Given the description of an element on the screen output the (x, y) to click on. 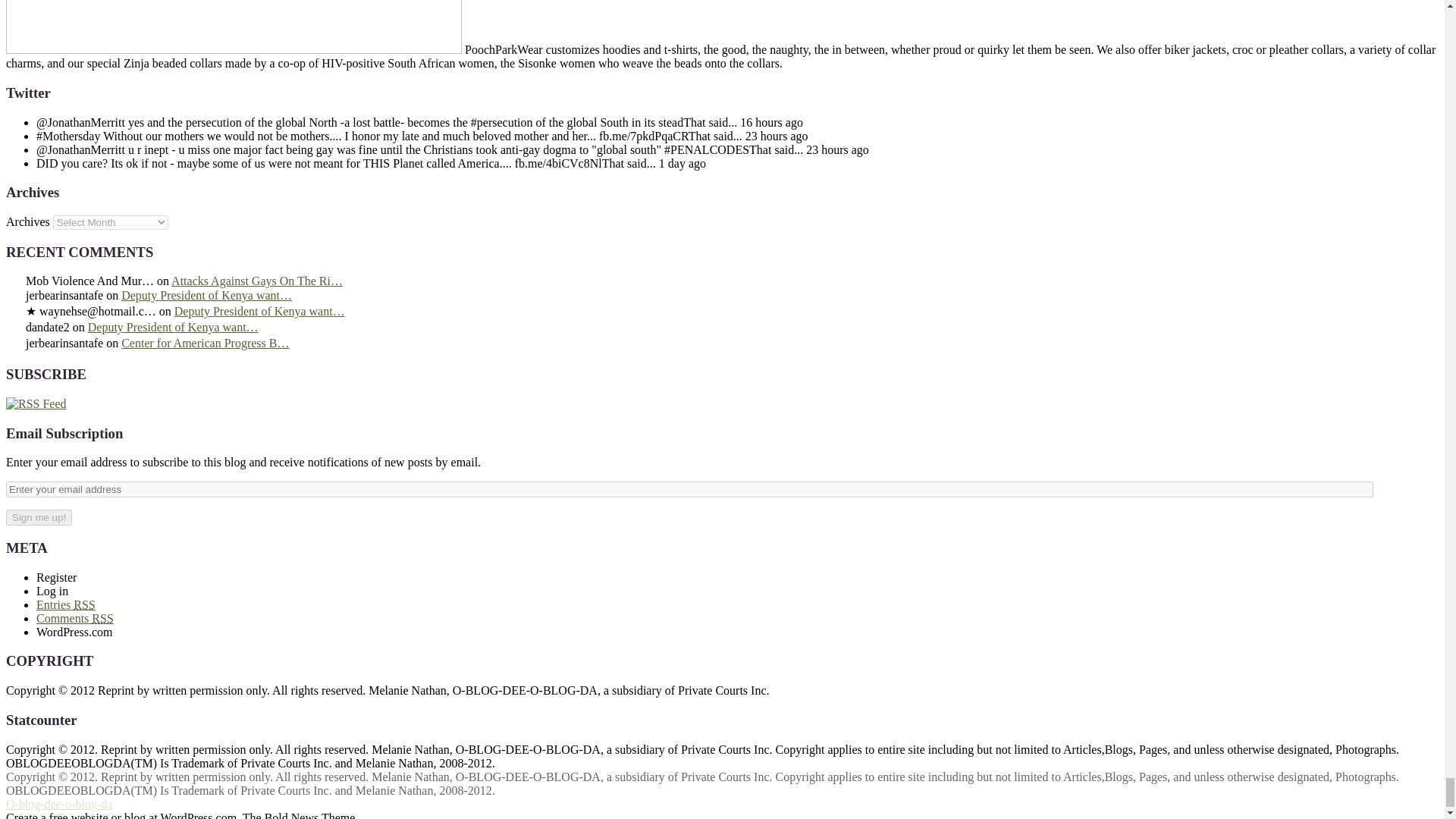
Sign me up! (38, 517)
